Given the description of an element on the screen output the (x, y) to click on. 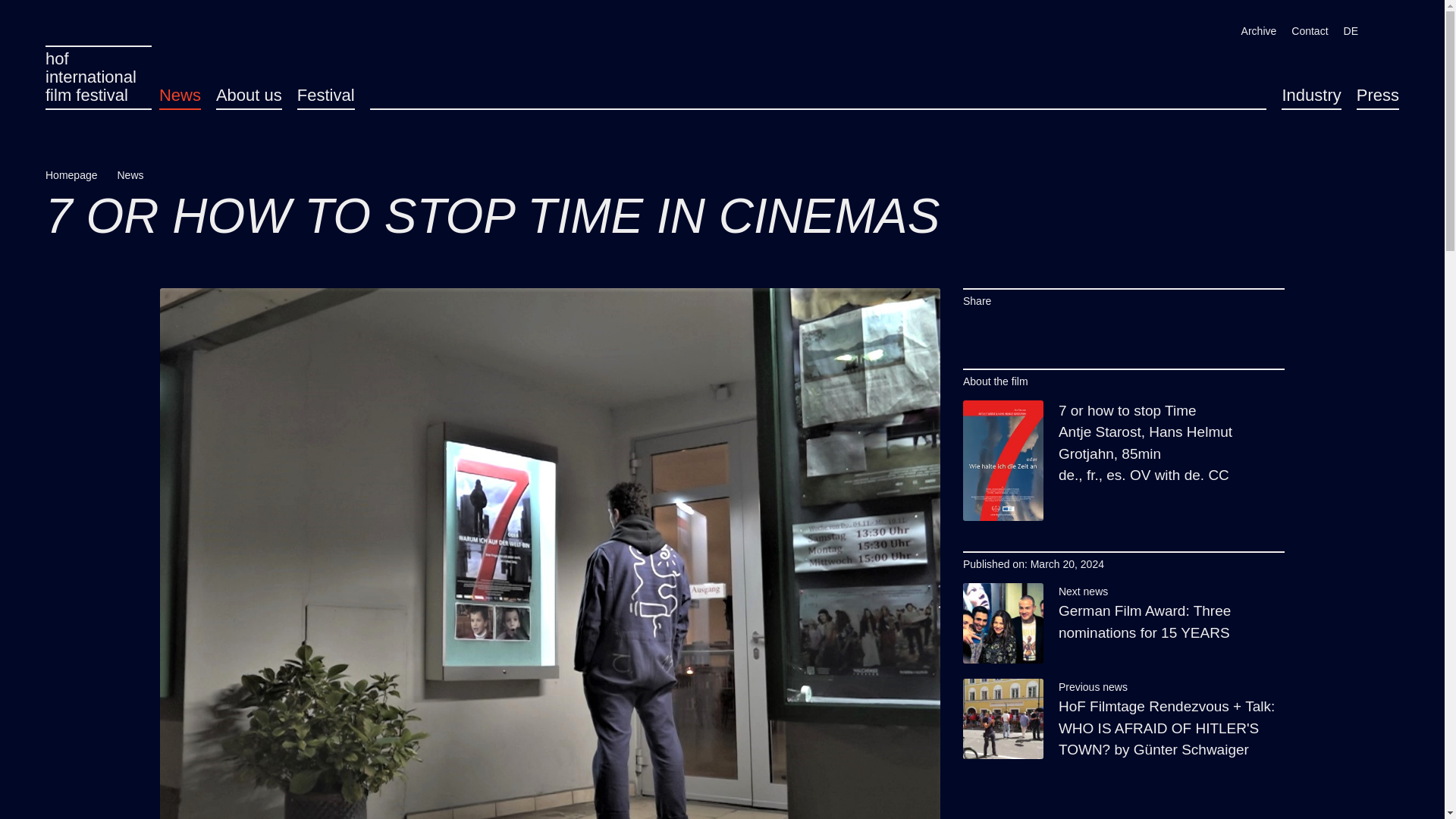
Archive (1258, 31)
Press (1377, 95)
Homepage (77, 176)
Contact (1309, 31)
About us (248, 95)
Industry (1310, 95)
Festival (98, 77)
News (326, 95)
News (135, 176)
7 OR HOW TO STOP TIME in cinemas (179, 95)
